Given the description of an element on the screen output the (x, y) to click on. 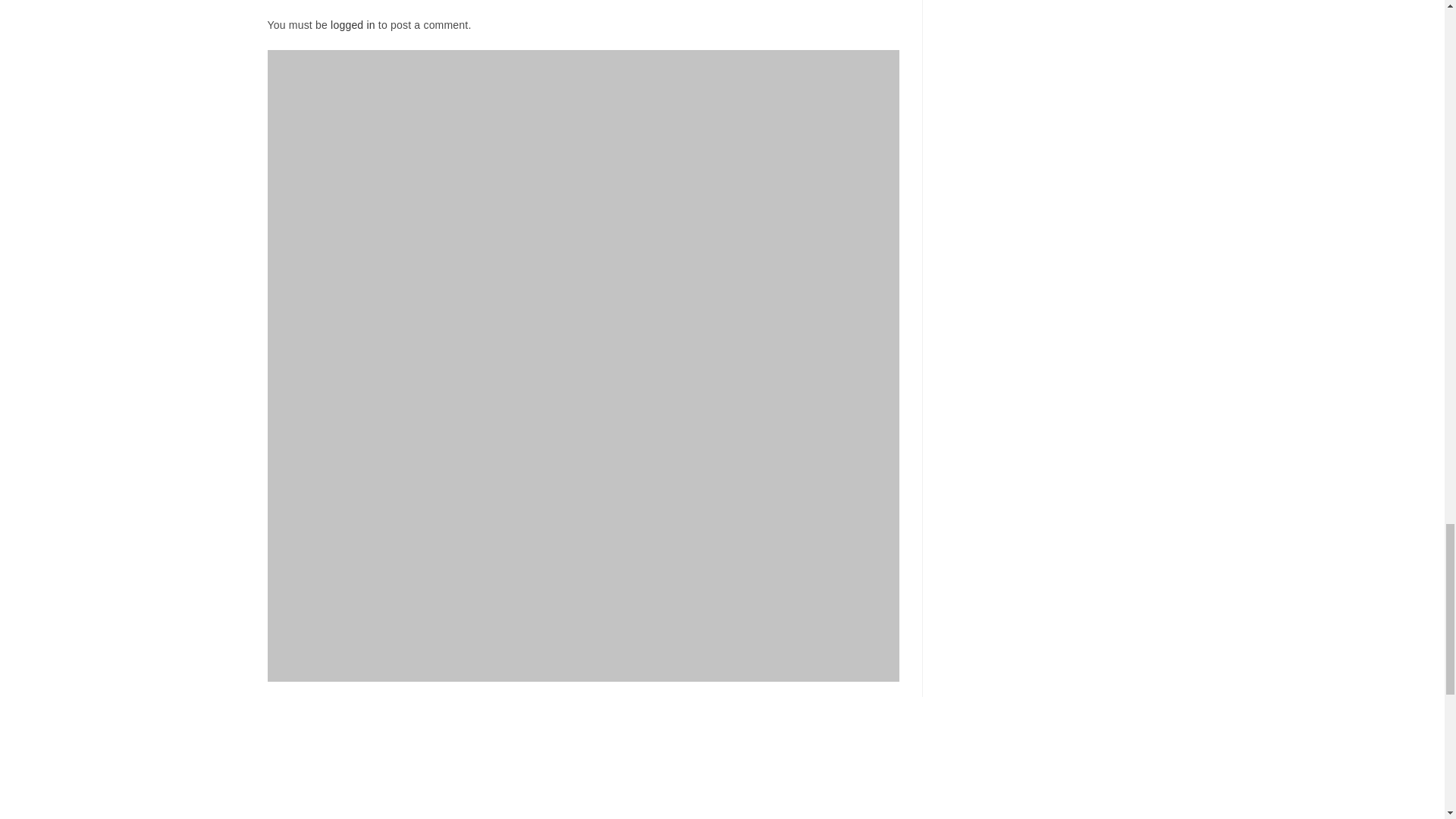
logged in (352, 24)
